Given the description of an element on the screen output the (x, y) to click on. 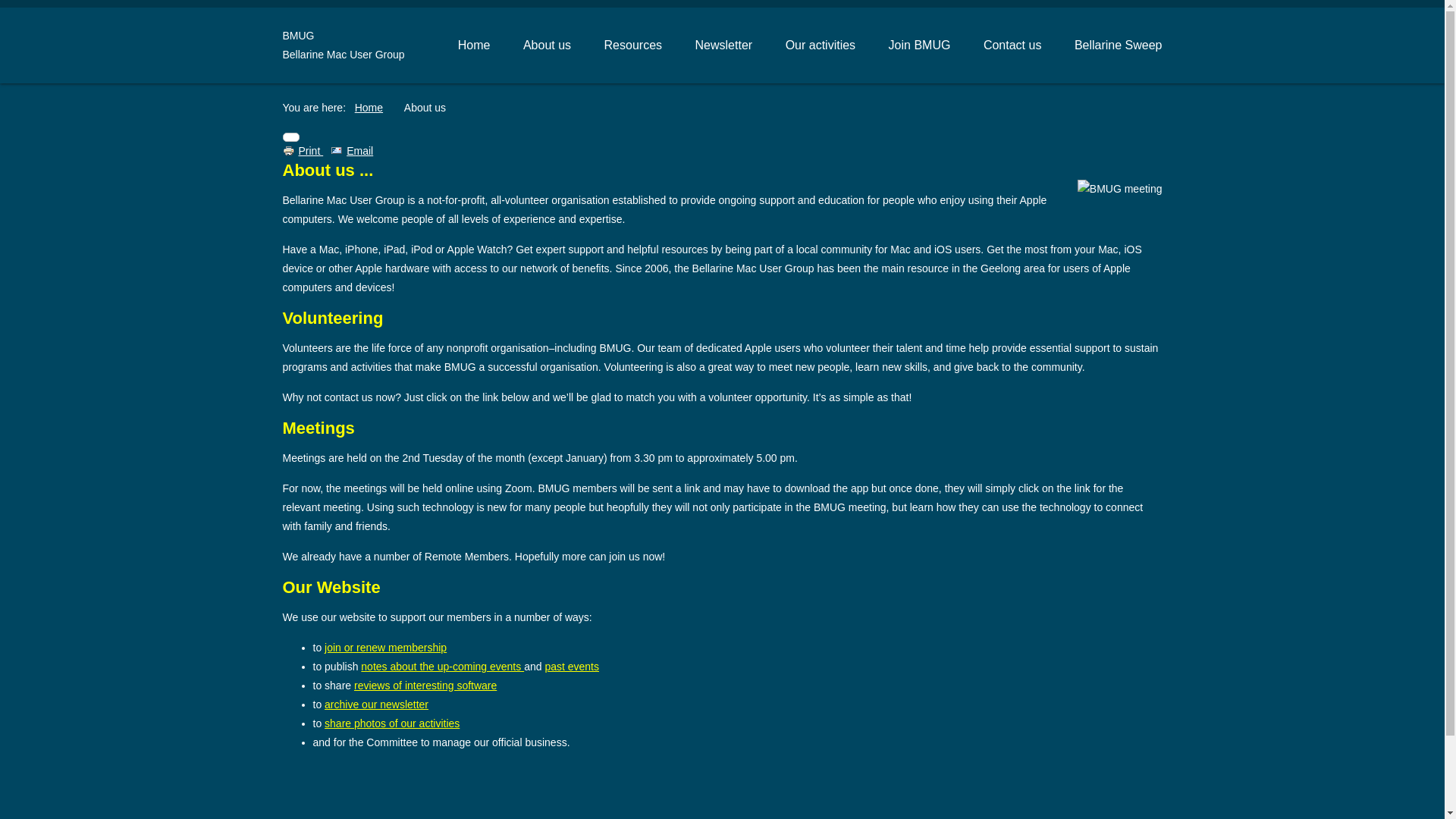
reviews of interesting software Element type: text (425, 685)
Home Element type: text (368, 107)
Join BMUG Element type: text (919, 45)
Contact us Element type: text (1012, 45)
Resources Element type: text (633, 45)
archive our newsletter Element type: text (376, 704)
Bellarine Sweep Element type: text (1118, 45)
Home Element type: text (474, 45)
share photos of our activities Element type: text (391, 723)
Our activities Element type: text (820, 45)
notes about the up-coming events Element type: text (442, 666)
About us Element type: text (547, 45)
past events Element type: text (571, 666)
join or renew membership Element type: text (385, 647)
Email Element type: text (351, 150)
Print Element type: text (302, 150)
Newsletter Element type: text (724, 45)
